Given the description of an element on the screen output the (x, y) to click on. 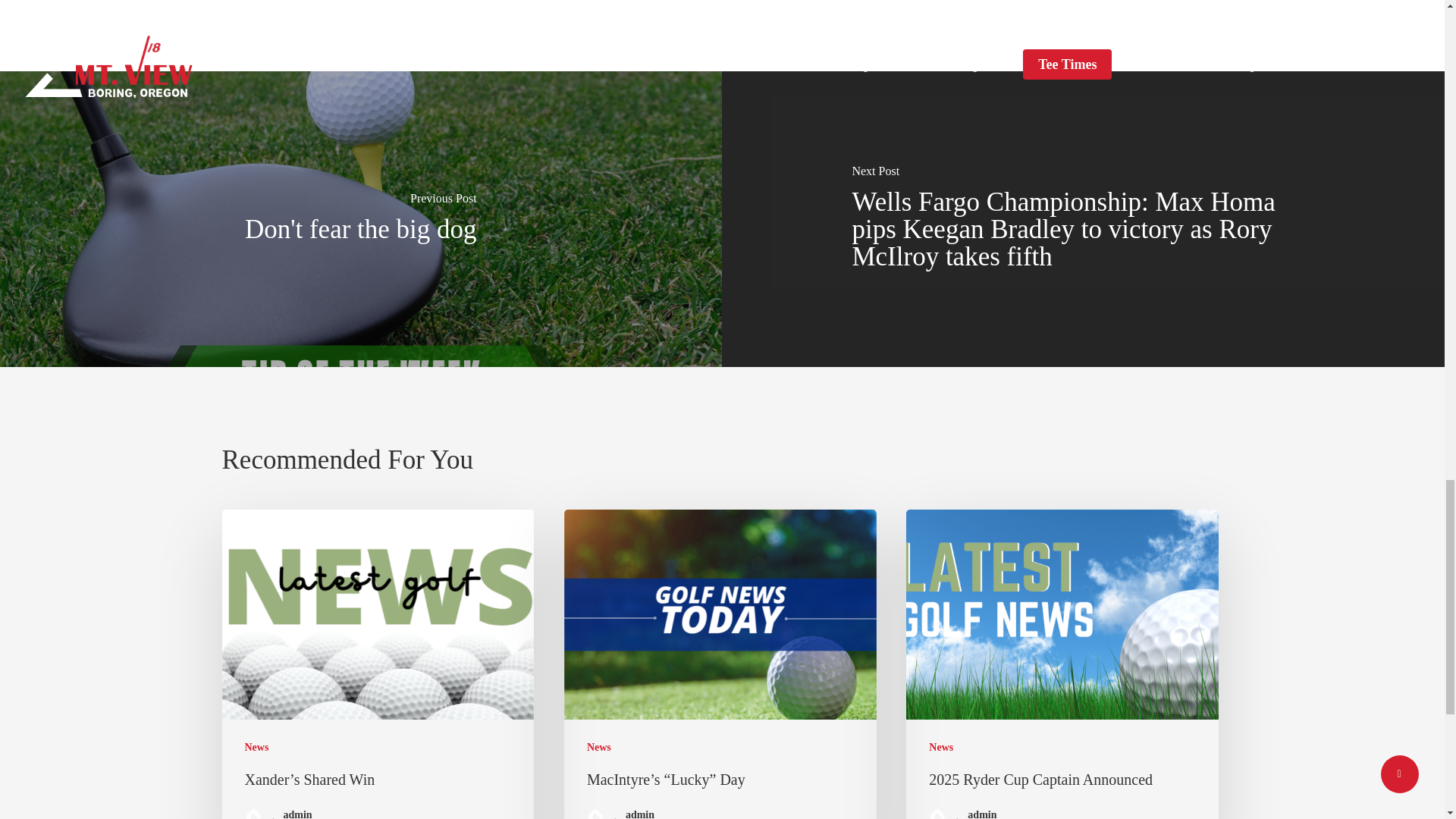
News (598, 747)
admin (311, 813)
admin (653, 813)
News (255, 747)
